Given the description of an element on the screen output the (x, y) to click on. 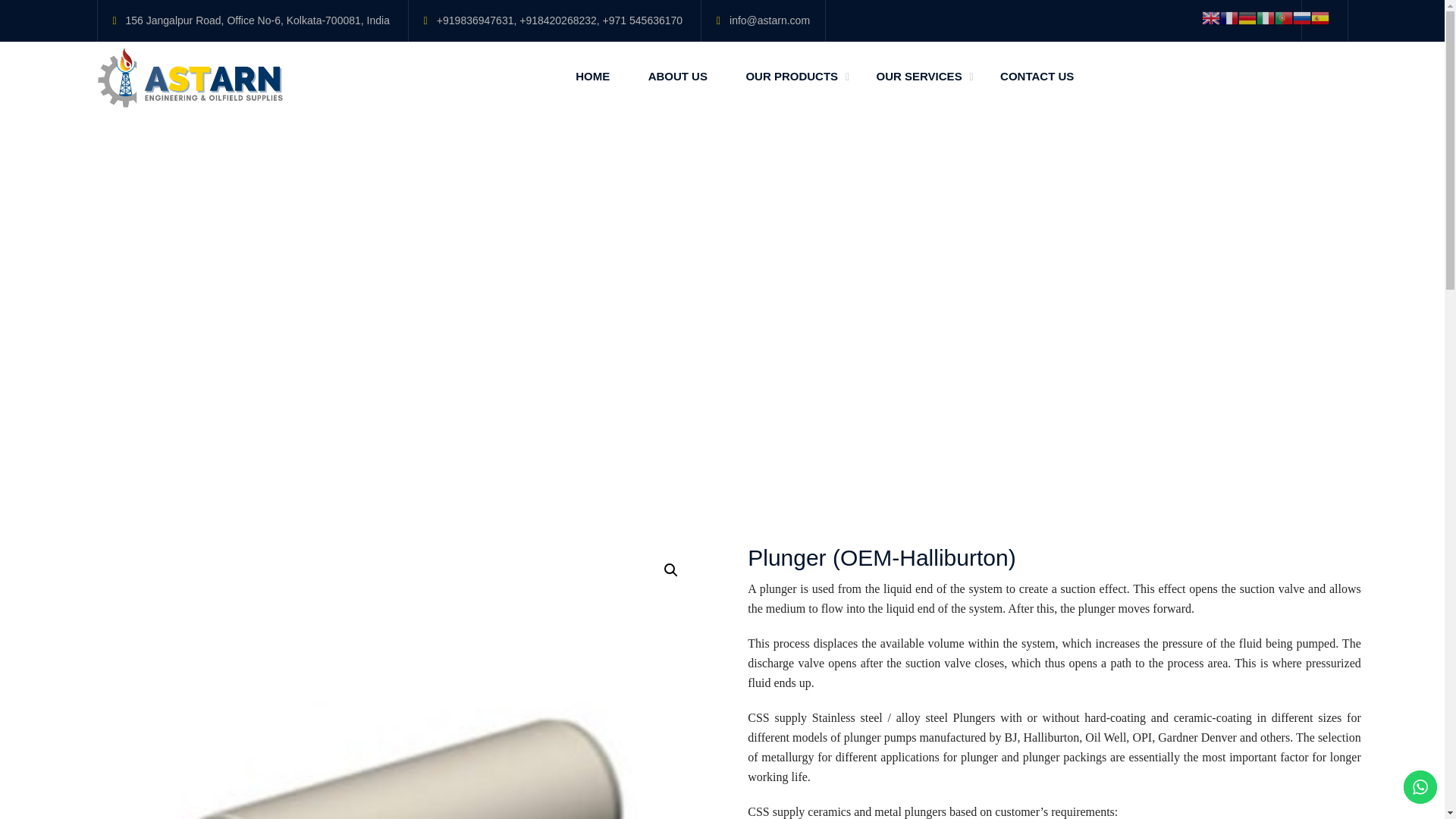
English (1211, 16)
OUR PRODUCTS (792, 76)
Russian (1301, 16)
Spanish (1320, 16)
ABOUT US (677, 76)
French (1229, 16)
HOME (592, 76)
Portuguese (1283, 16)
German (1247, 16)
Italian (1265, 16)
